Given the description of an element on the screen output the (x, y) to click on. 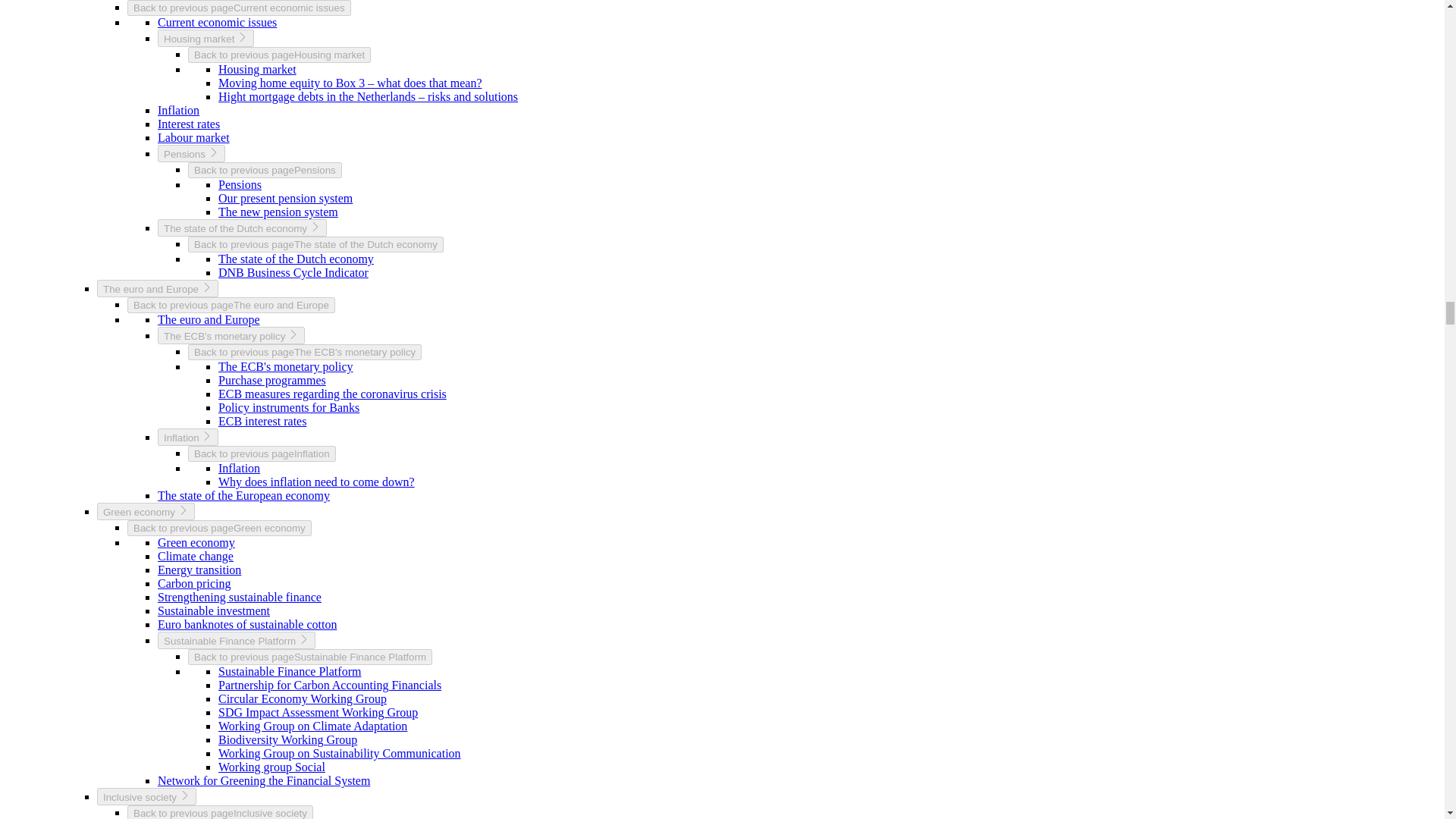
Housing market (257, 69)
Back to previous pageHousing market (279, 54)
Housing market (205, 37)
Inflation (178, 110)
Interest rates (188, 123)
Current economic issues (216, 21)
Back to previous pageCurrent economic issues (239, 7)
